Given the description of an element on the screen output the (x, y) to click on. 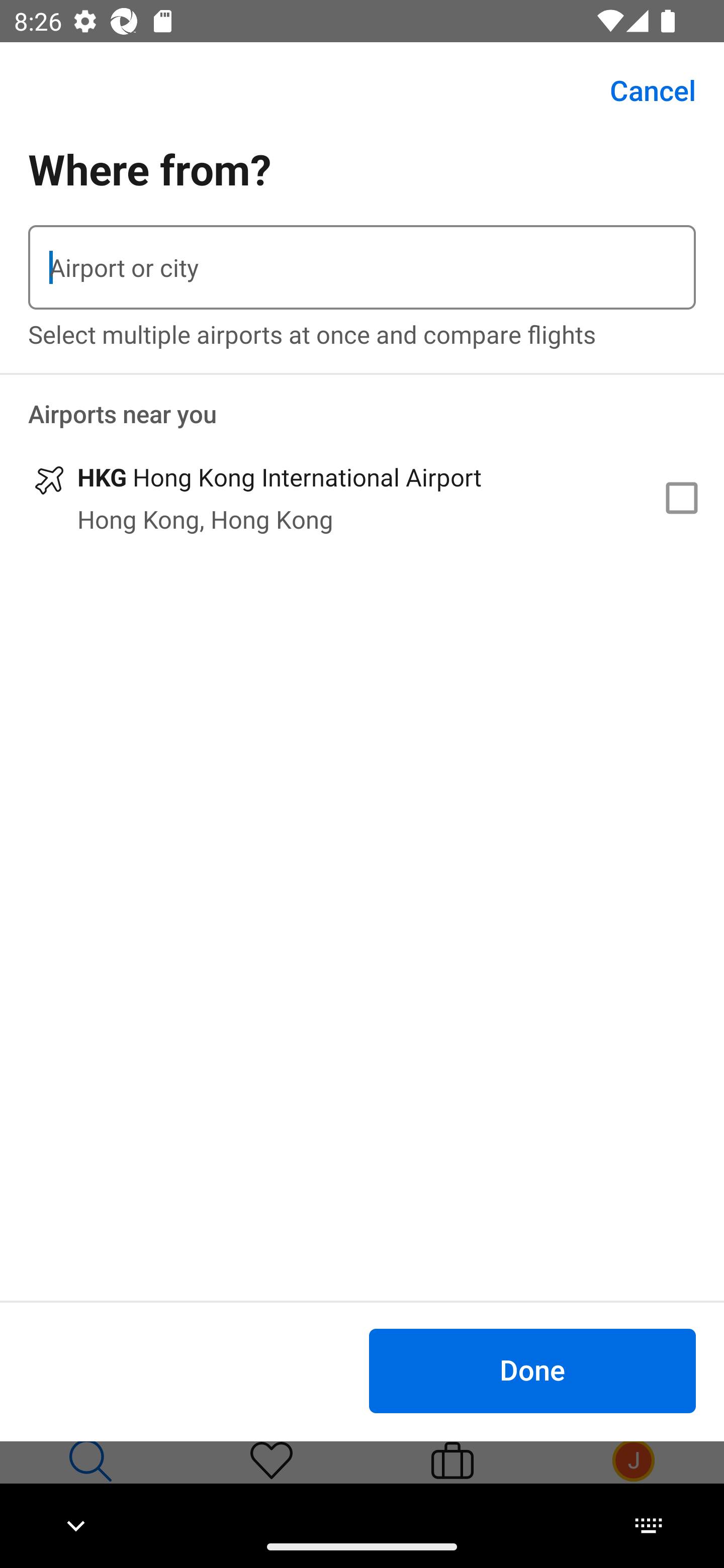
Cancel (641, 90)
Airport or city (361, 266)
Done (532, 1370)
